Given the description of an element on the screen output the (x, y) to click on. 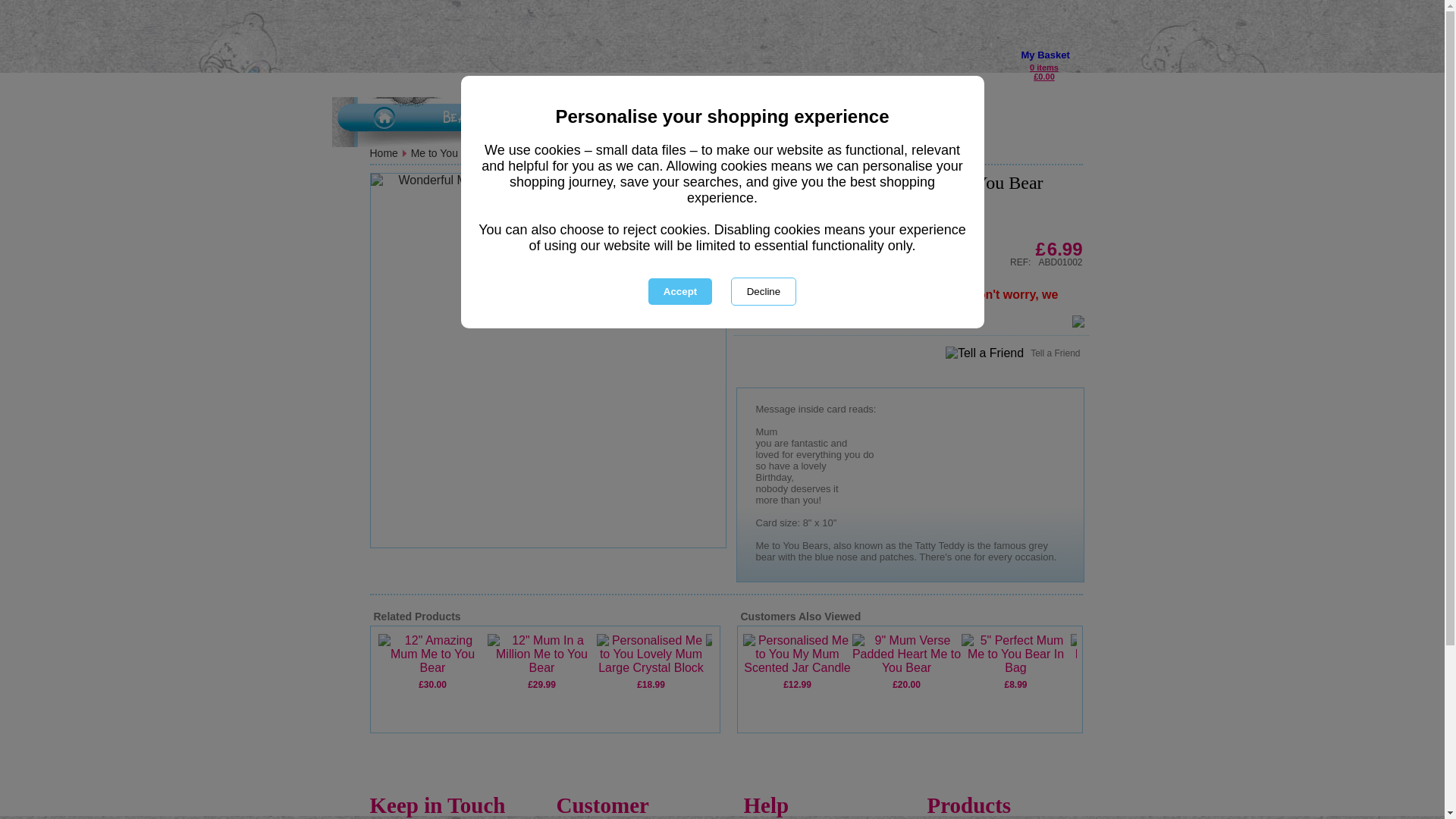
Accept (679, 291)
Personalised Me to You Lovely Mum Large Crystal Block (649, 653)
Decline (763, 291)
9" Mum Flower Banner Me to You Bear (758, 653)
Decline (763, 291)
12" Mum In a Million Me to You Bear (540, 653)
12" Amazing Mum Me to You Bear (431, 653)
Accept (679, 291)
My Basket (1044, 54)
Search now.. (533, 80)
